Given the description of an element on the screen output the (x, y) to click on. 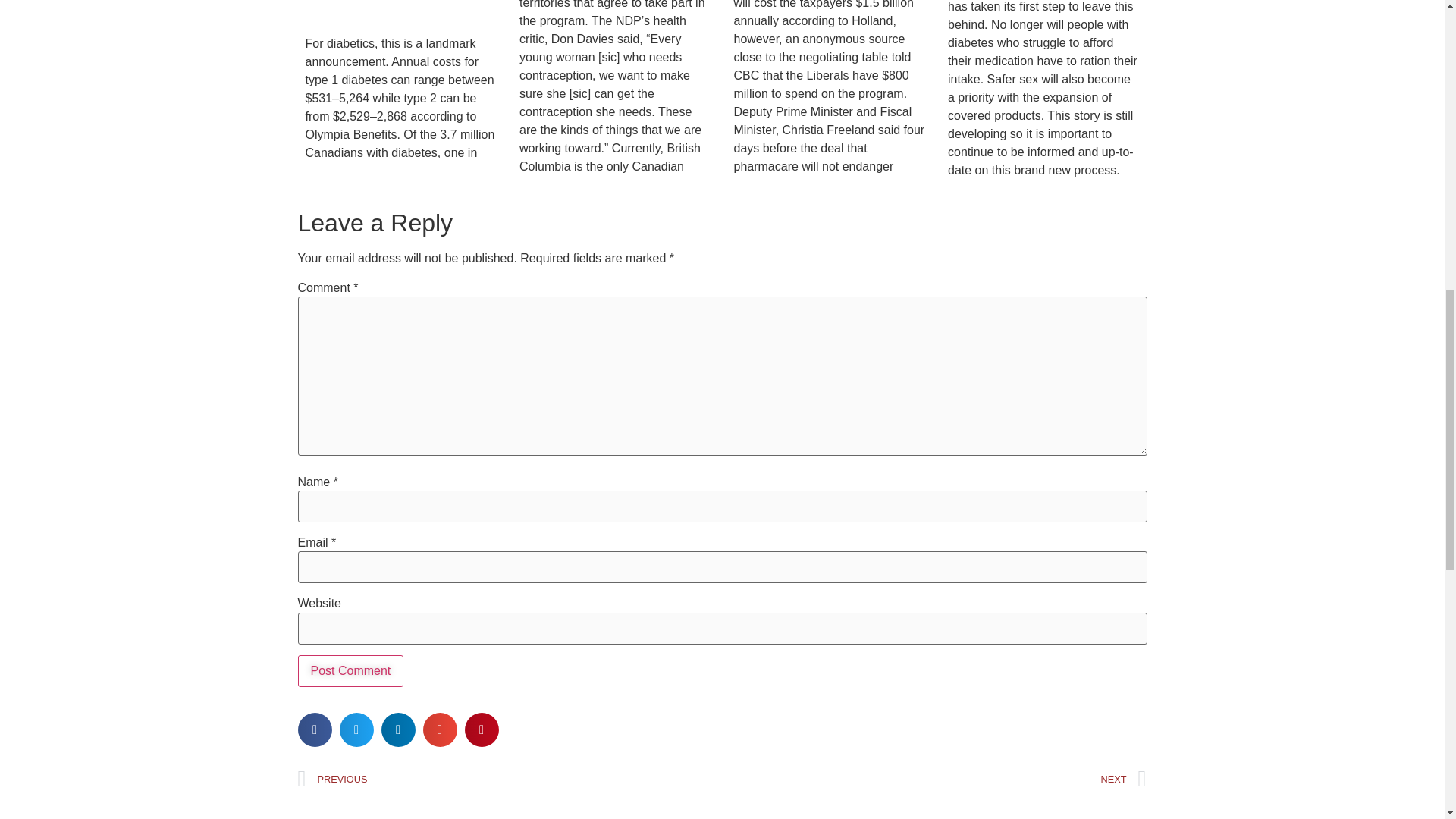
PREVIOUS (509, 779)
NEXT (934, 779)
Post Comment (350, 671)
Post Comment (350, 671)
